Given the description of an element on the screen output the (x, y) to click on. 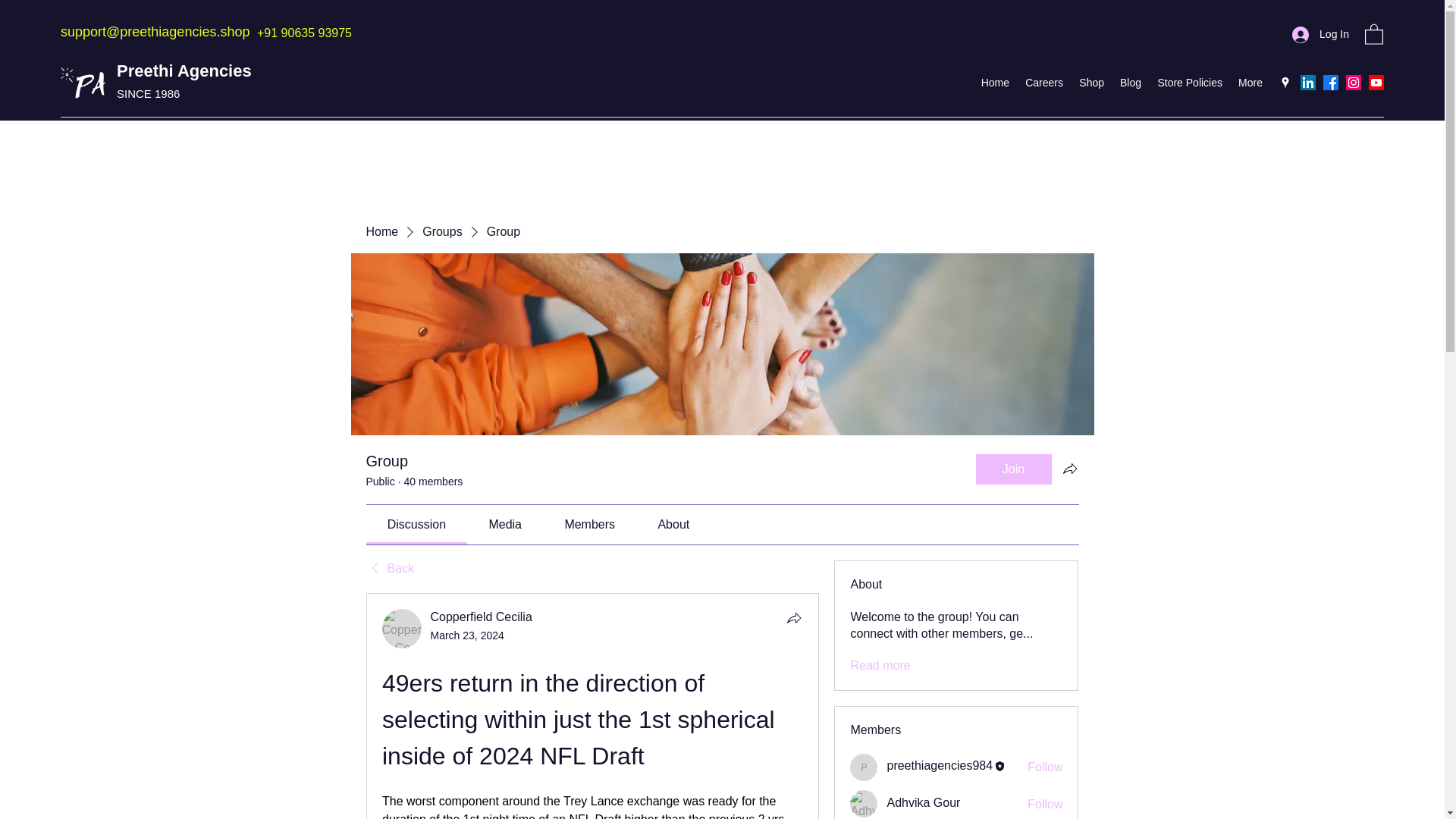
Adhvika Gour (863, 803)
Groups (441, 231)
Blog (1130, 82)
Log In (1320, 34)
Home (381, 231)
Shop (1091, 82)
Home (994, 82)
Preethi Agencies (183, 70)
Careers (1043, 82)
March 23, 2024 (466, 635)
